Given the description of an element on the screen output the (x, y) to click on. 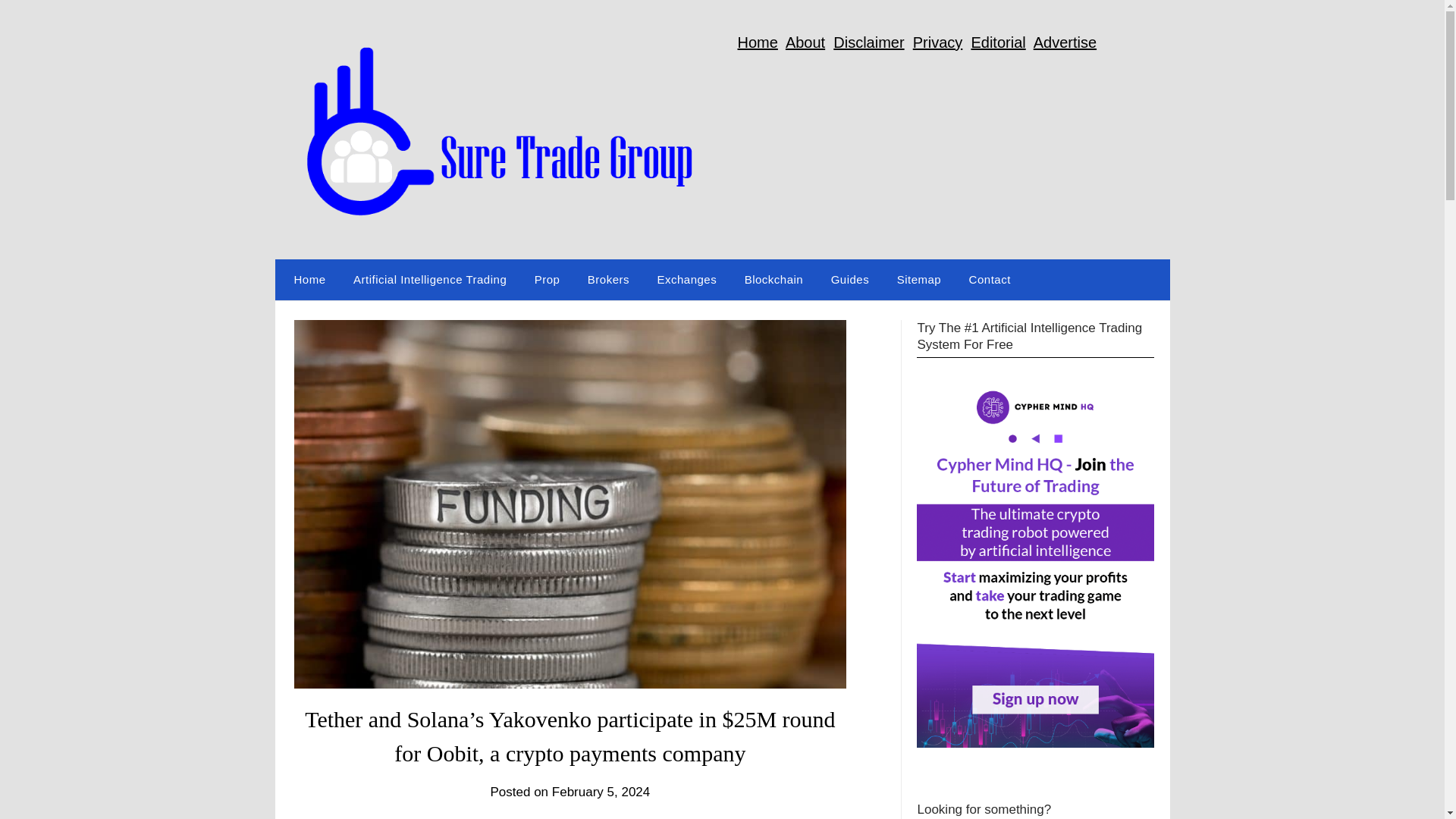
Brokers (608, 279)
Contact (989, 279)
Prop (547, 279)
About (805, 42)
Home (306, 279)
Guides (850, 279)
Blockchain (773, 279)
Editorial (998, 42)
Sitemap (919, 279)
